Given the description of an element on the screen output the (x, y) to click on. 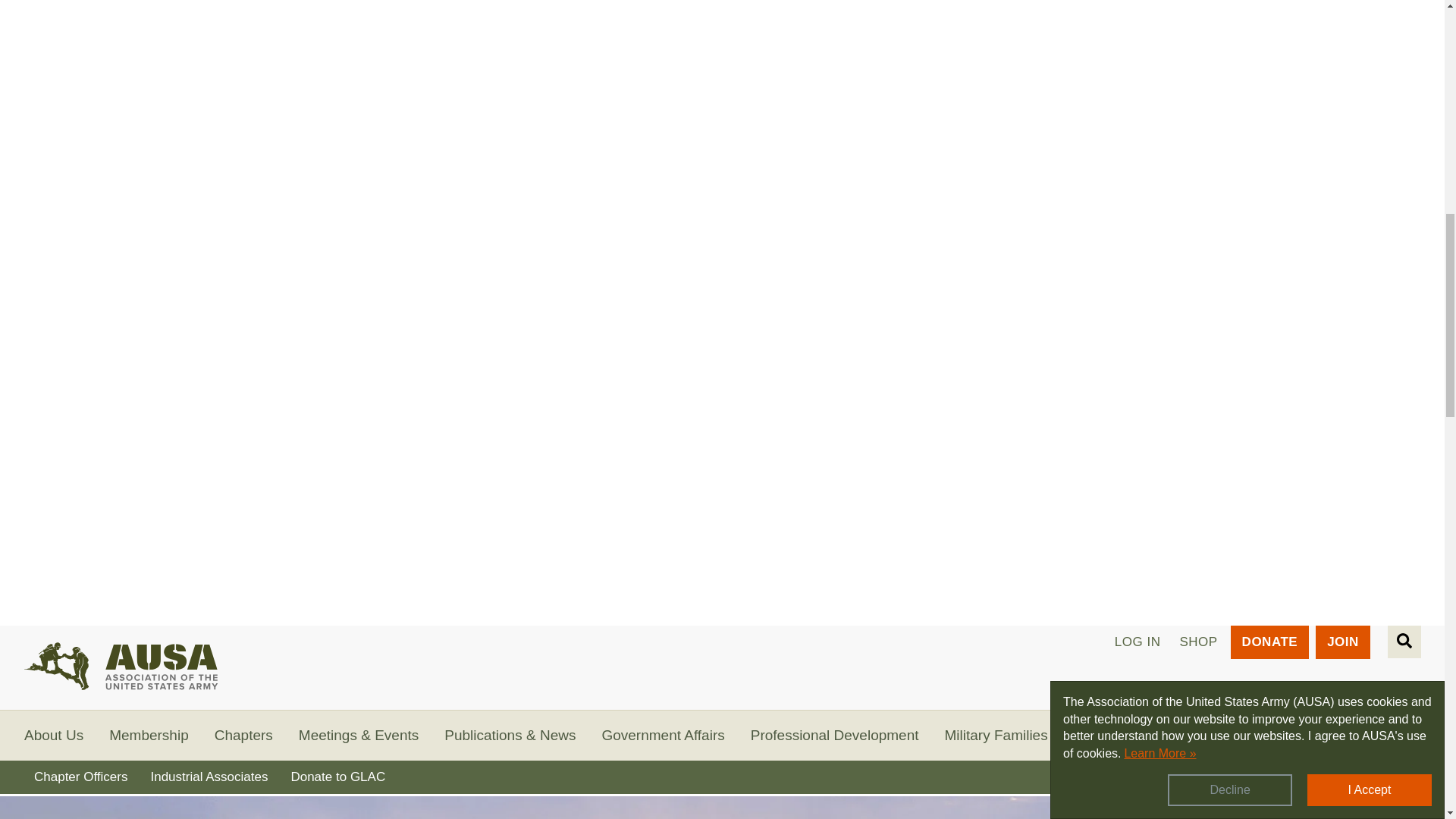
ASSOCIATION OF THE UNITED STATES ARMY (161, 660)
DONATE (1269, 642)
LOG IN (1137, 642)
JOIN (1343, 642)
Industrial Associates (208, 776)
Chapter Officers (80, 776)
Association of the United States Army (161, 660)
Membership (149, 735)
Donate to GLAC (337, 776)
Chapters (243, 735)
About Us (53, 735)
SHOP (1198, 642)
